Given the description of an element on the screen output the (x, y) to click on. 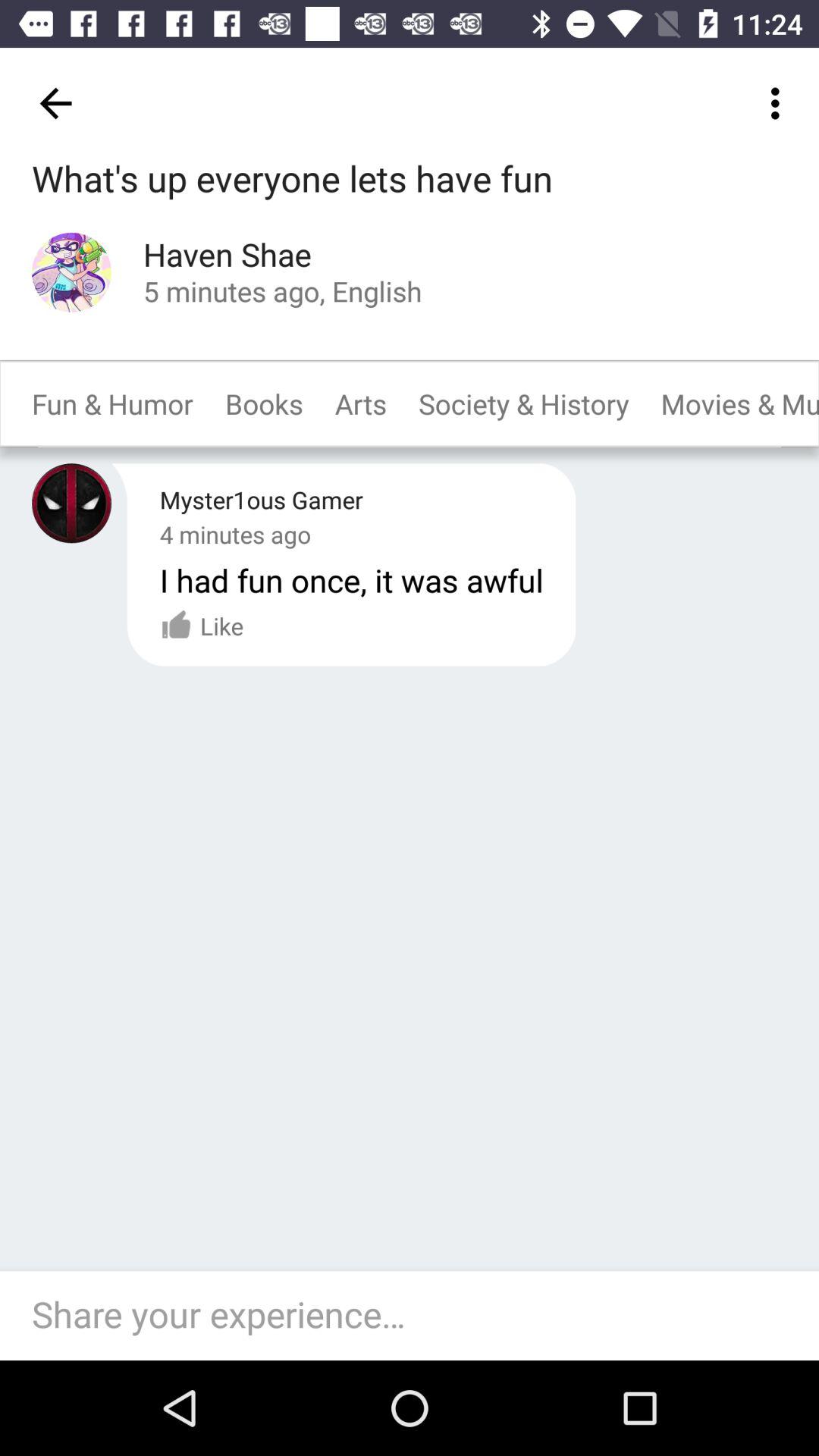
open the what s up icon (291, 179)
